Given the description of an element on the screen output the (x, y) to click on. 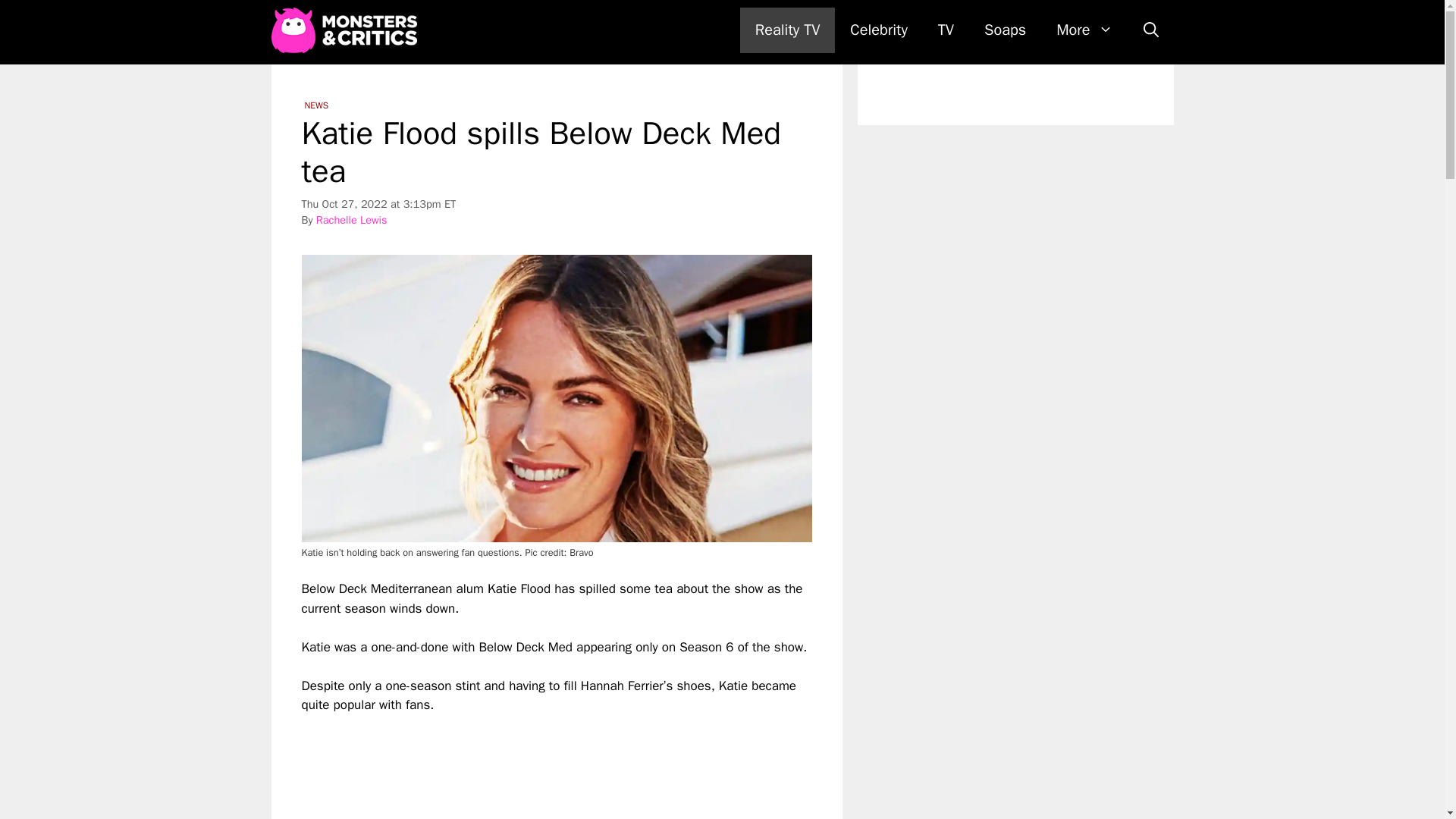
View all posts by Rachelle Lewis (351, 219)
TV (946, 30)
Monsters and Critics (343, 30)
Celebrity (877, 30)
Reality TV (787, 30)
Rachelle Lewis (351, 219)
YouTube video player (513, 766)
More (1083, 30)
Soaps (1005, 30)
Monsters and Critics (347, 30)
